Given the description of an element on the screen output the (x, y) to click on. 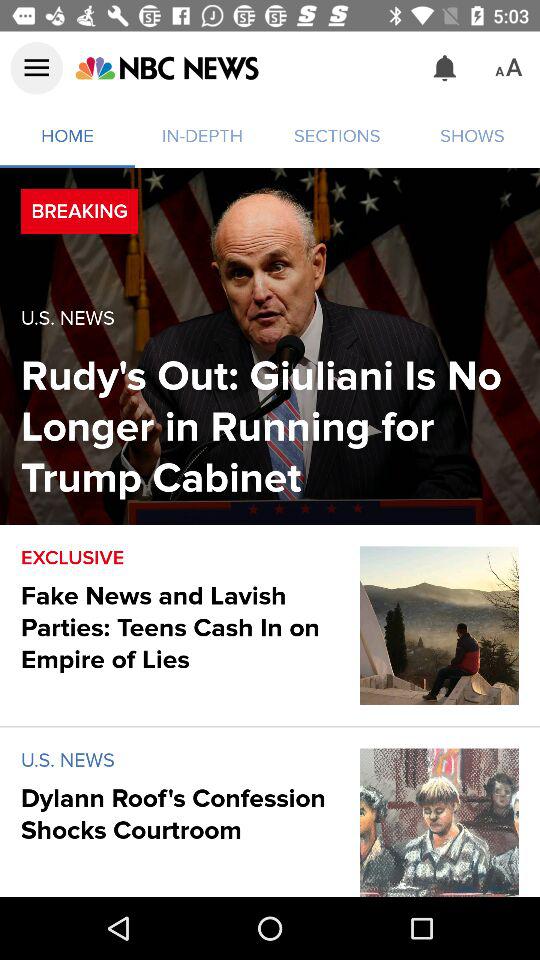
open the item above the home (36, 68)
